Given the description of an element on the screen output the (x, y) to click on. 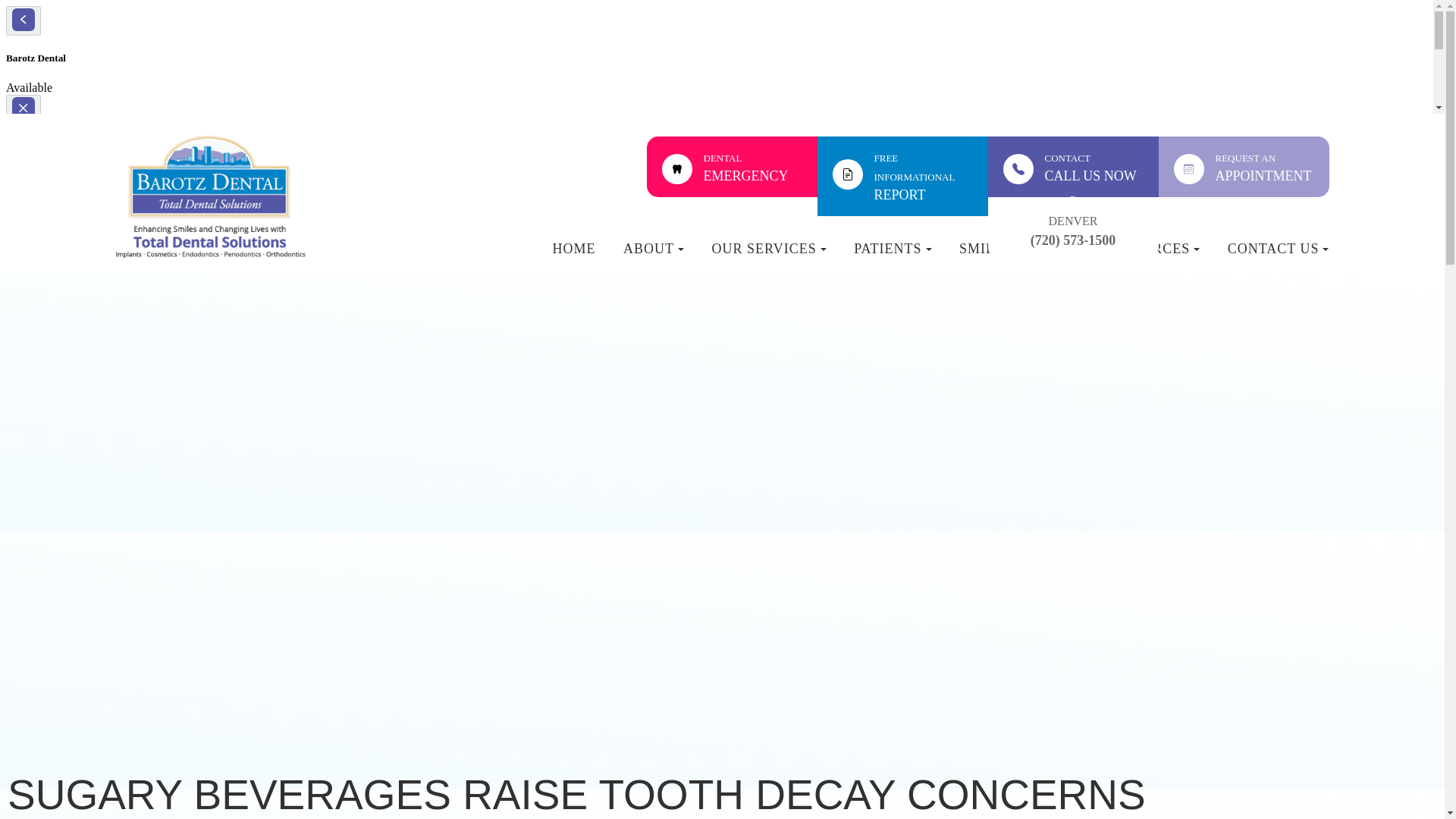
OUR SERVICES (769, 255)
PATIENTS (892, 255)
RESOURCES (1151, 255)
CONTACT US (1278, 255)
SMILE GALLERY (1018, 255)
HOME (1243, 166)
ABOUT (573, 255)
